Given the description of an element on the screen output the (x, y) to click on. 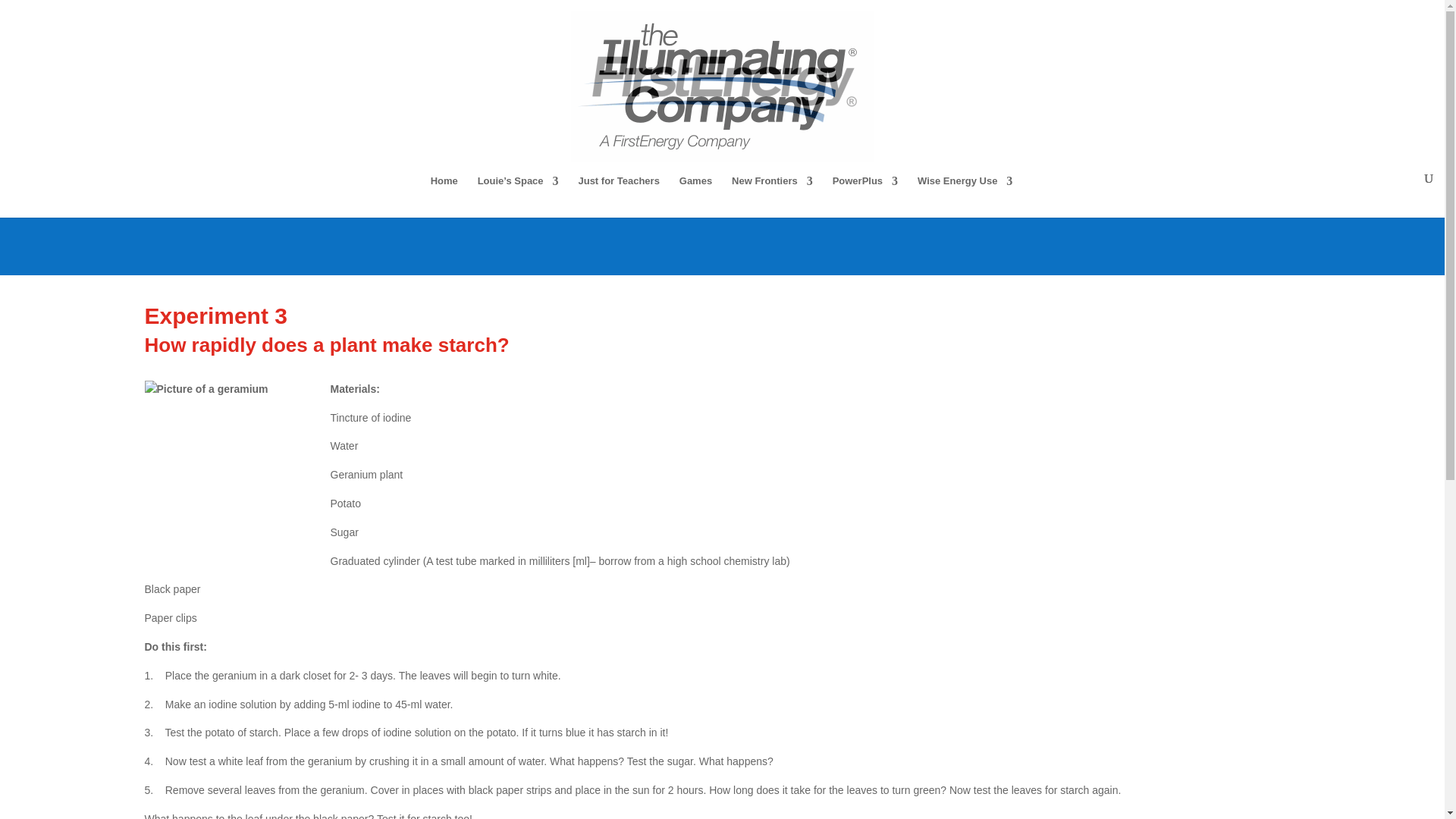
JustForTeachersHead500 (721, 191)
PowerPlus (865, 196)
Wise Energy Use (964, 196)
Just for Teachers (618, 196)
New Frontiers (772, 196)
